Given the description of an element on the screen output the (x, y) to click on. 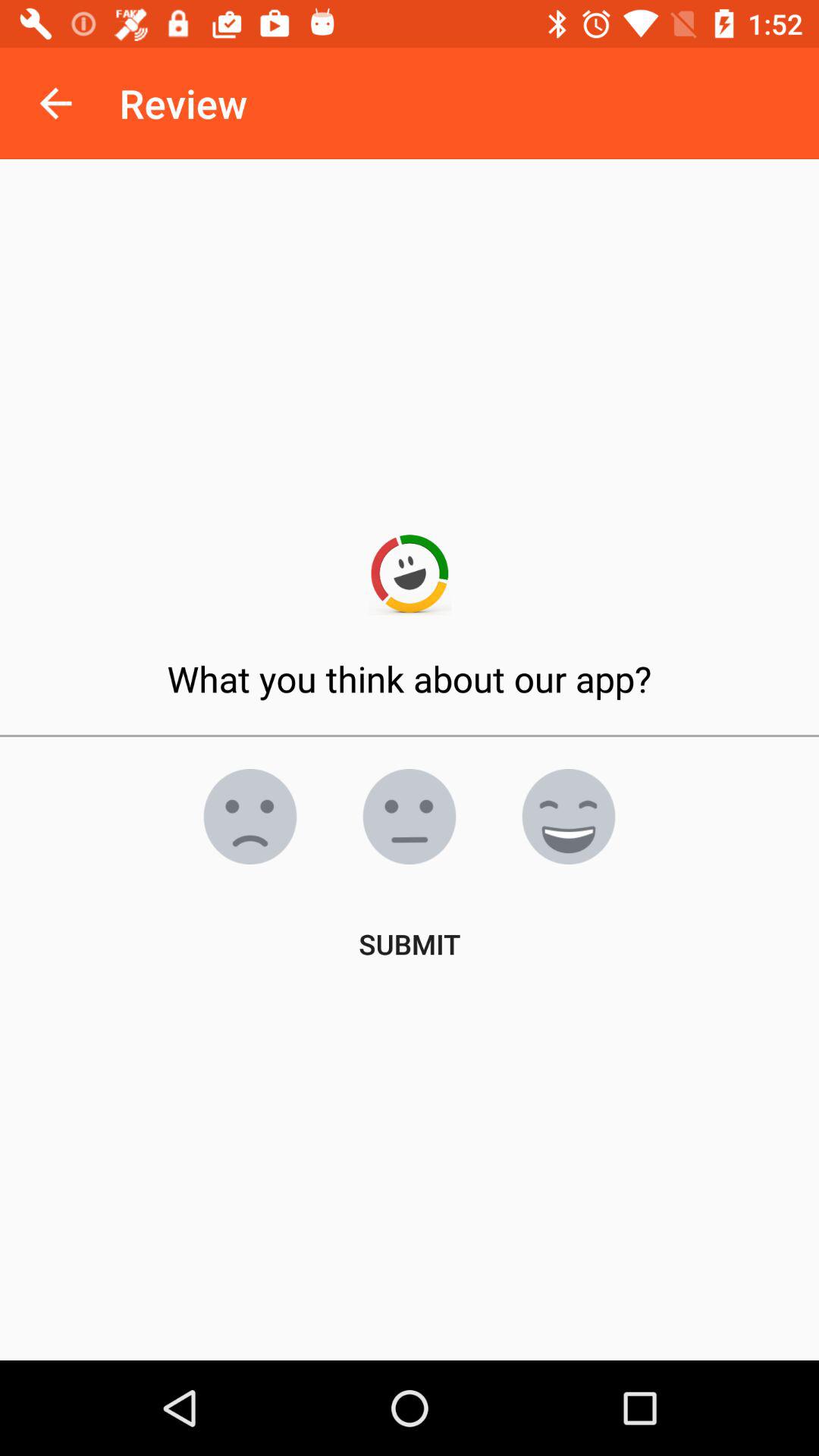
open the icon above the submit icon (568, 816)
